Given the description of an element on the screen output the (x, y) to click on. 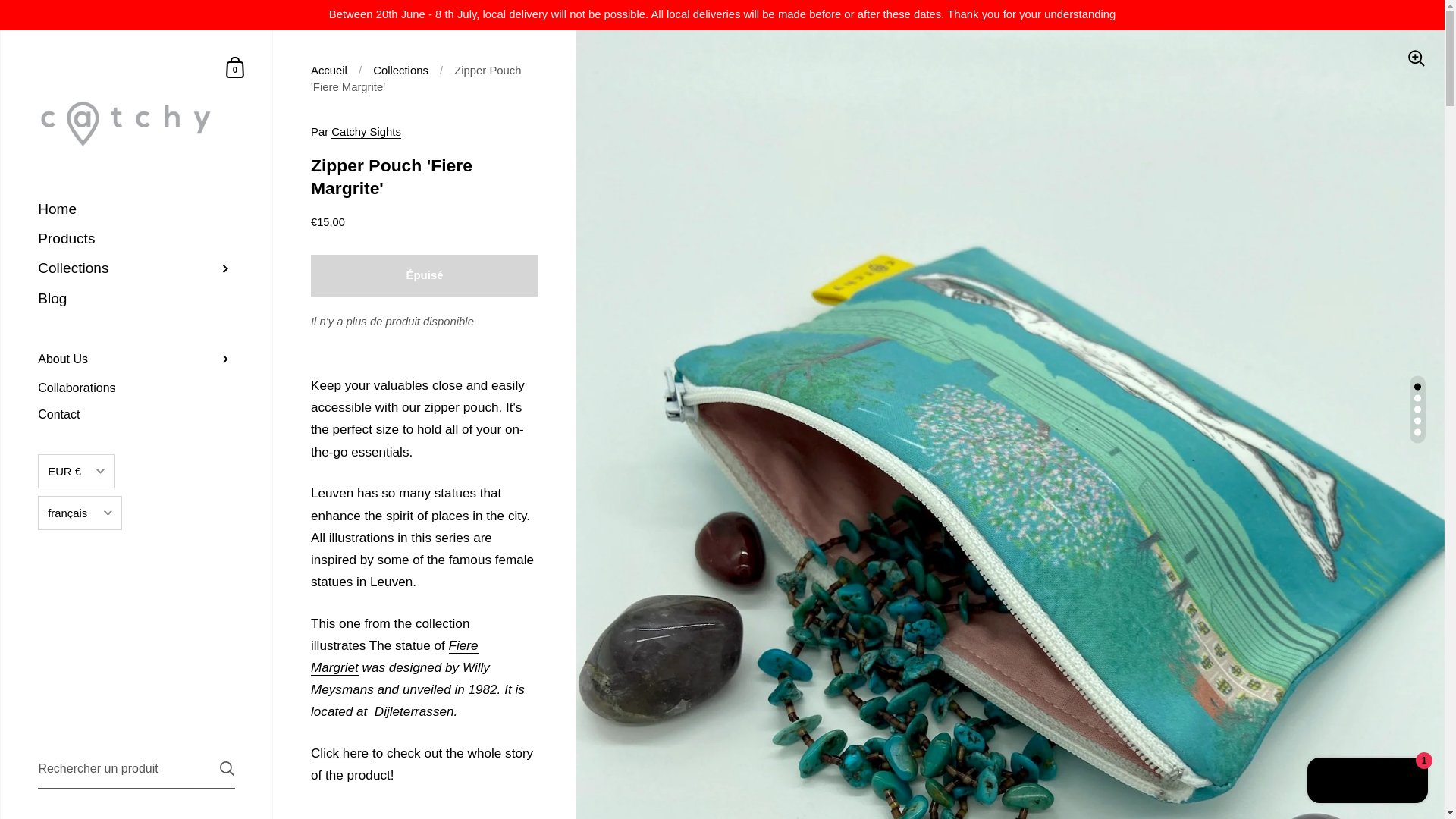
Fiere Margrite (395, 656)
fr (79, 603)
Mon panier (235, 66)
Accueil (329, 70)
Contact (136, 414)
USD (76, 561)
Blog (136, 298)
Collaborations (136, 387)
About Us (136, 358)
Products (136, 238)
Home (136, 209)
EUR (76, 501)
Catchy Sights (366, 132)
Catchy Sights (366, 132)
Collections (136, 268)
